Given the description of an element on the screen output the (x, y) to click on. 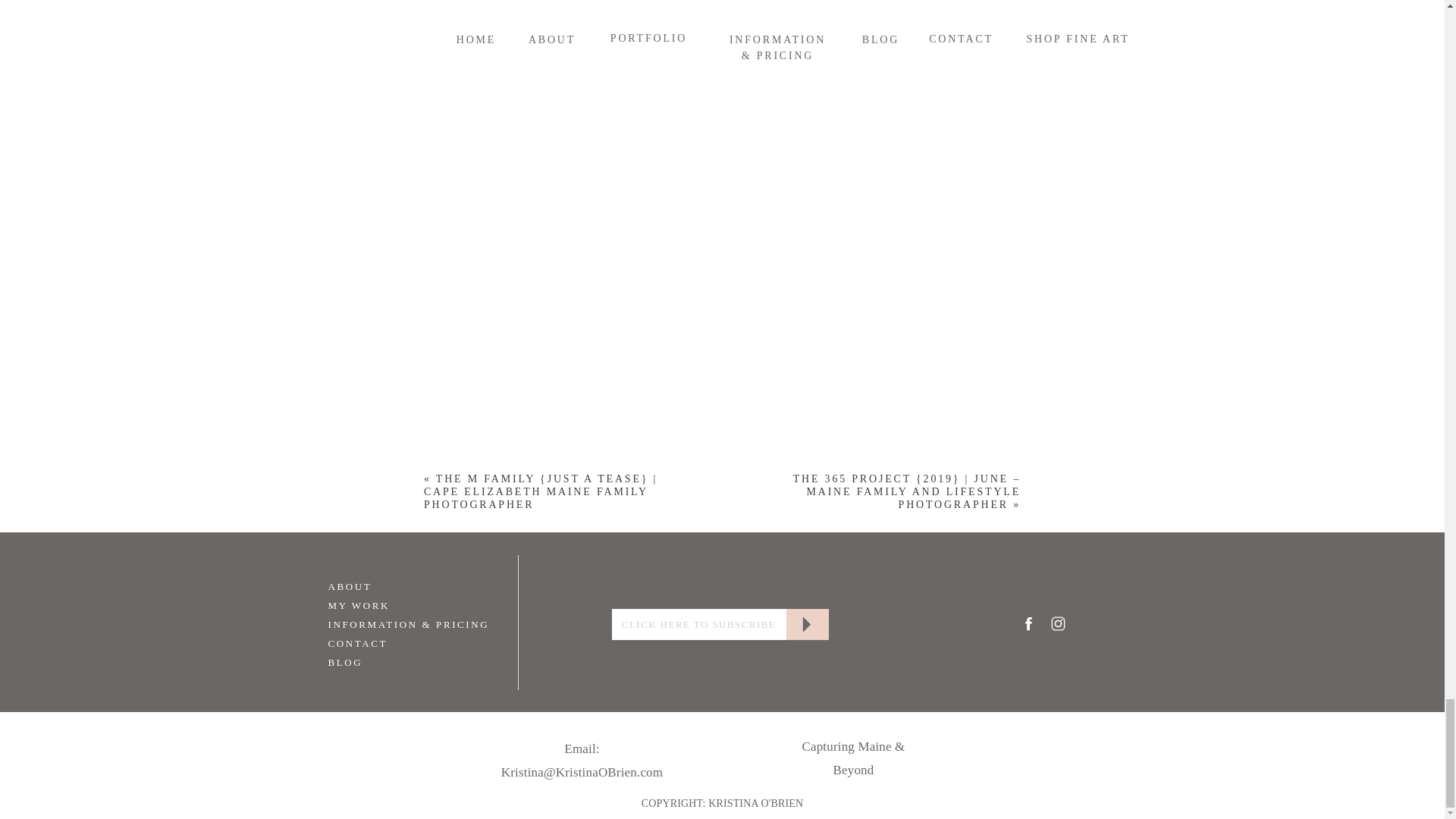
MY WORK (384, 604)
ABOUT (384, 585)
BLOG (384, 661)
CONTACT (384, 642)
COPYRIGHT: KRISTINA O'BRIEN (722, 803)
